Given the description of an element on the screen output the (x, y) to click on. 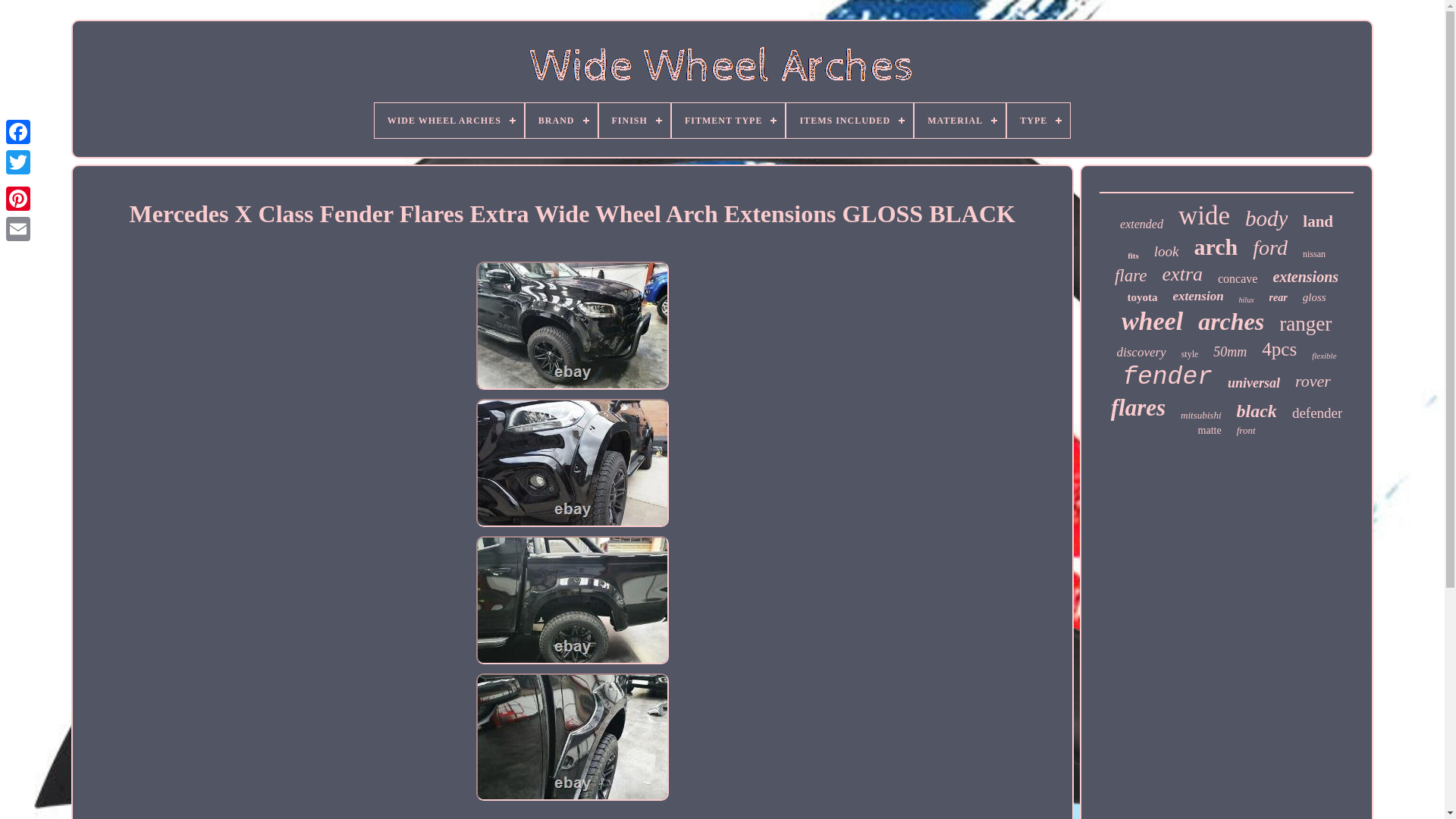
FINISH (633, 120)
BRAND (560, 120)
WIDE WHEEL ARCHES (449, 120)
